Given the description of an element on the screen output the (x, y) to click on. 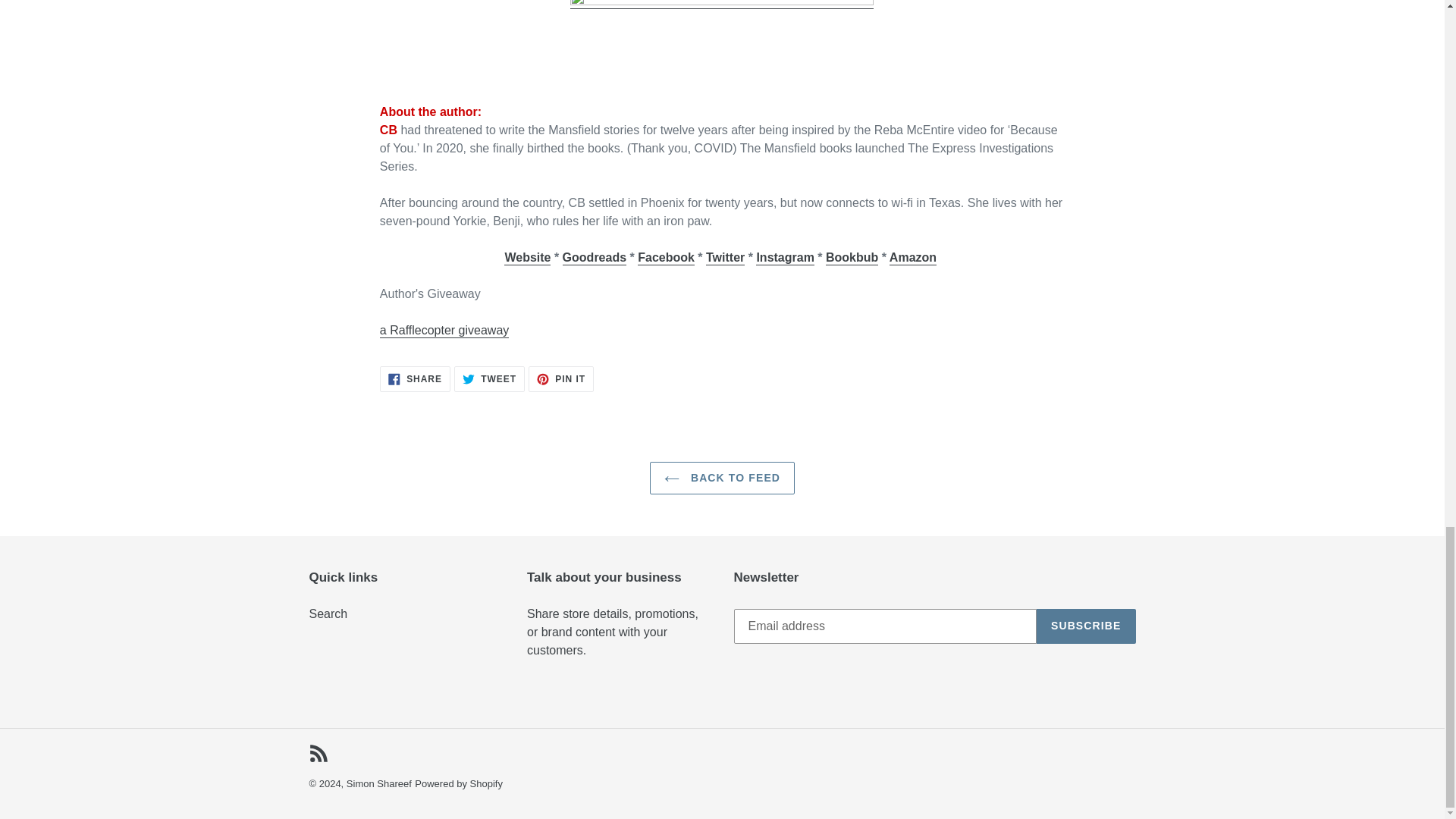
Amazon (912, 257)
Facebook (665, 257)
Goodreads (594, 257)
Bookbub (851, 257)
Twitter (725, 257)
Instagram (784, 257)
Website (526, 257)
